Given the description of an element on the screen output the (x, y) to click on. 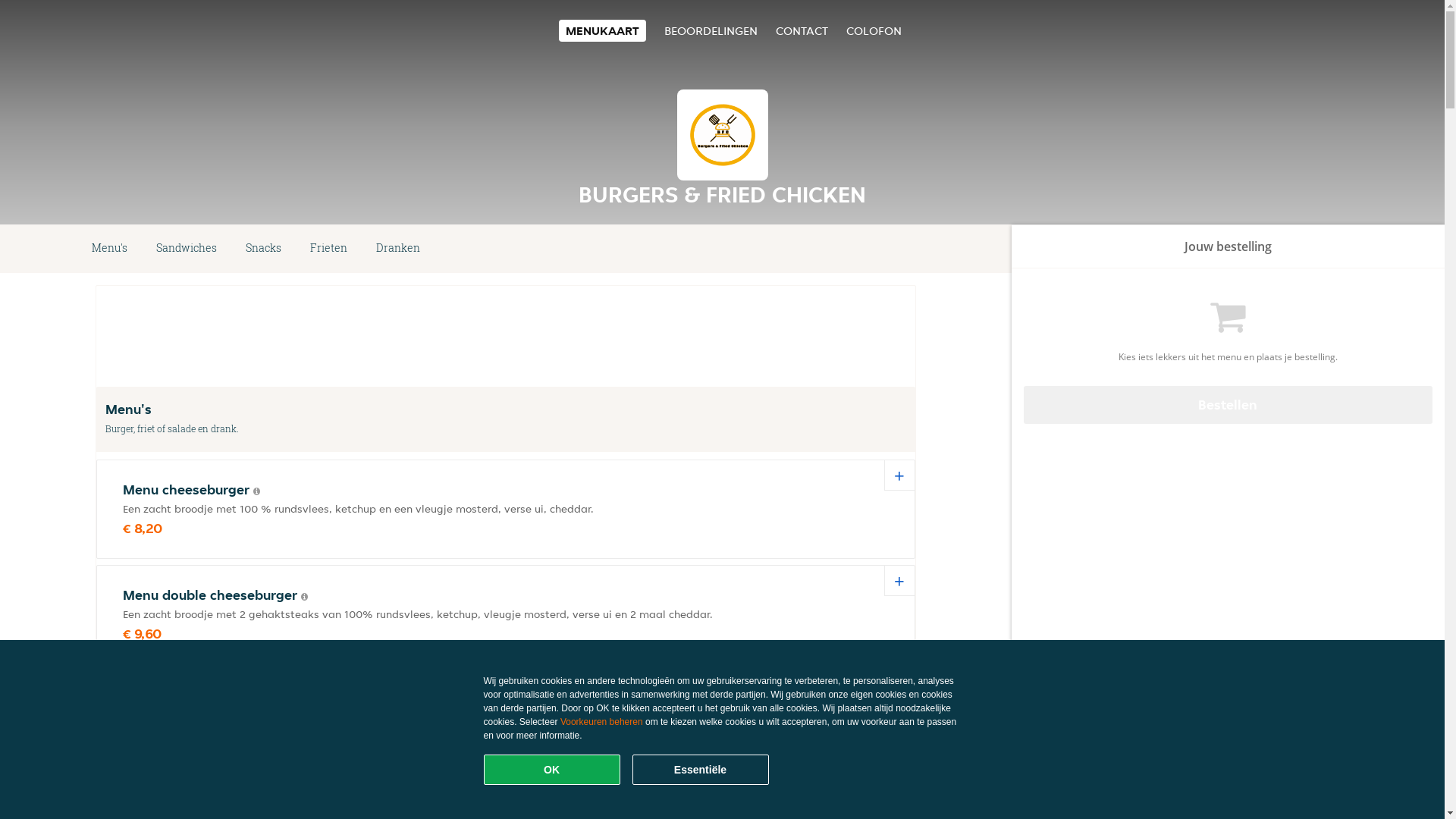
Meer productinformatie Element type: hover (304, 596)
OK Element type: text (551, 769)
MENUKAART Element type: text (601, 30)
BEOORDELINGEN Element type: text (710, 30)
Bestellen Element type: text (1228, 404)
Frieten Element type: text (328, 248)
Menu's Element type: text (109, 248)
Voorkeuren beheren Element type: text (601, 721)
Meer productinformatie Element type: hover (256, 491)
CONTACT Element type: text (801, 30)
Snacks Element type: text (263, 248)
COLOFON Element type: text (873, 30)
Meer productinformatie Element type: hover (254, 807)
Sandwiches Element type: text (186, 248)
Meer productinformatie Element type: hover (229, 701)
Dranken Element type: text (397, 248)
